Given the description of an element on the screen output the (x, y) to click on. 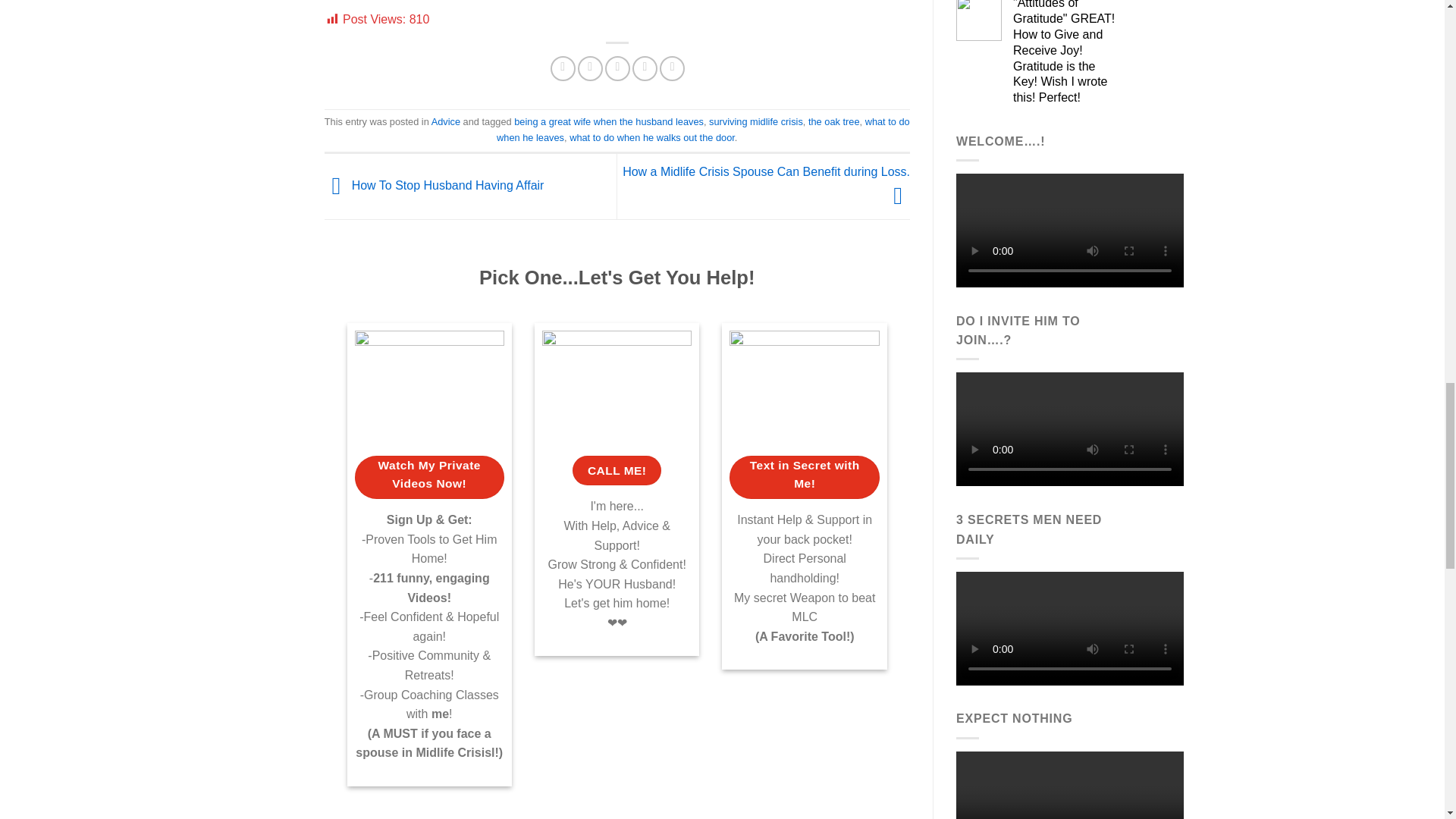
How a Midlife Crisis Spouse Can Benefit during Loss. (766, 183)
Pin on Pinterest (644, 68)
what to do when he walks out the door (652, 137)
Share on Twitter (590, 68)
Email to a Friend (617, 68)
Share on Facebook (562, 68)
surviving midlife crisis (756, 121)
what to do when he leaves (703, 129)
Share on LinkedIn (671, 68)
being a great wife when the husband leaves (608, 121)
